Given the description of an element on the screen output the (x, y) to click on. 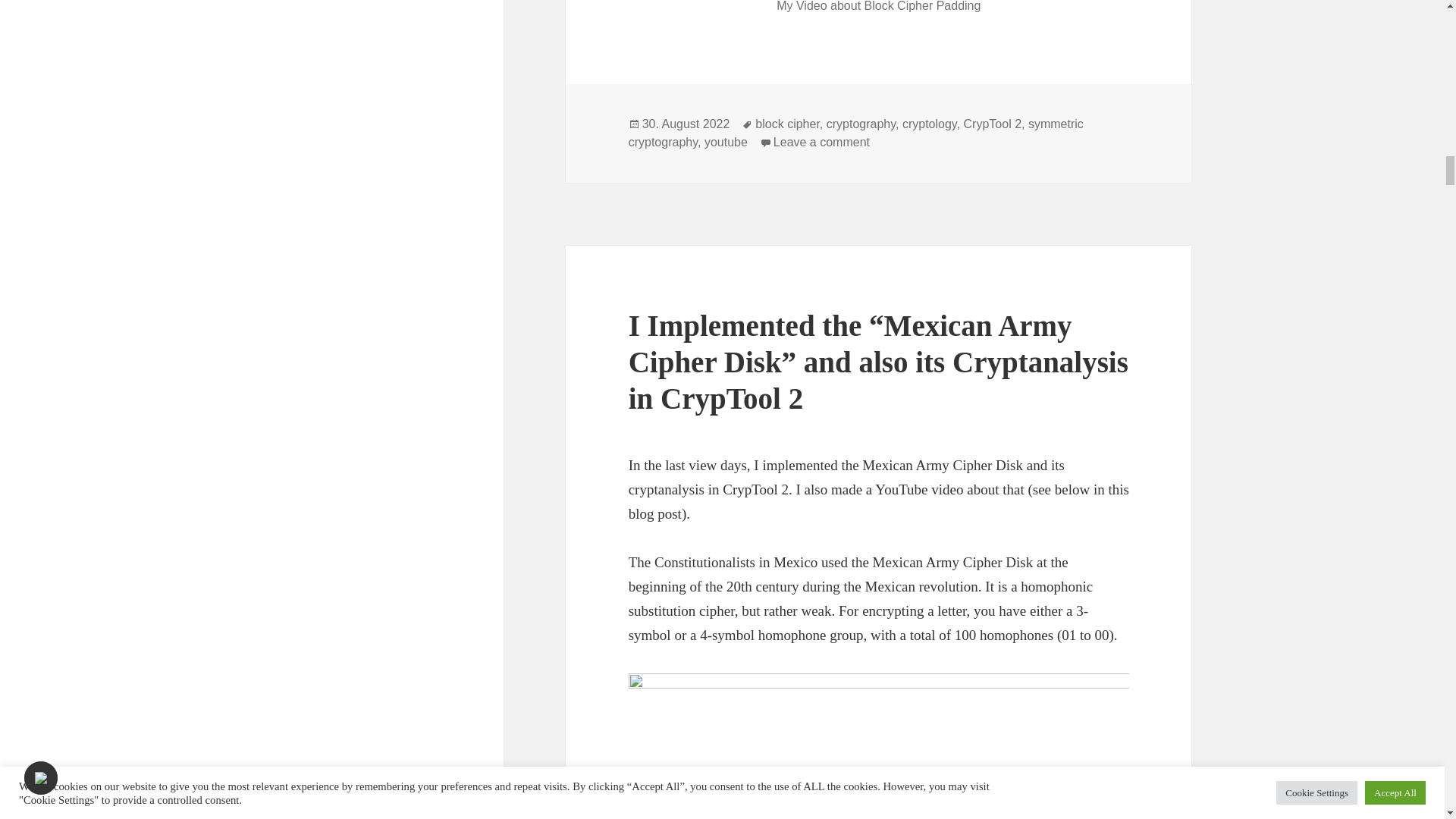
cryptography (861, 124)
30. August 2022 (686, 124)
youtube (726, 142)
cryptology (821, 142)
symmetric cryptography (929, 124)
CrypTool 2 (855, 133)
block cipher (992, 124)
